Given the description of an element on the screen output the (x, y) to click on. 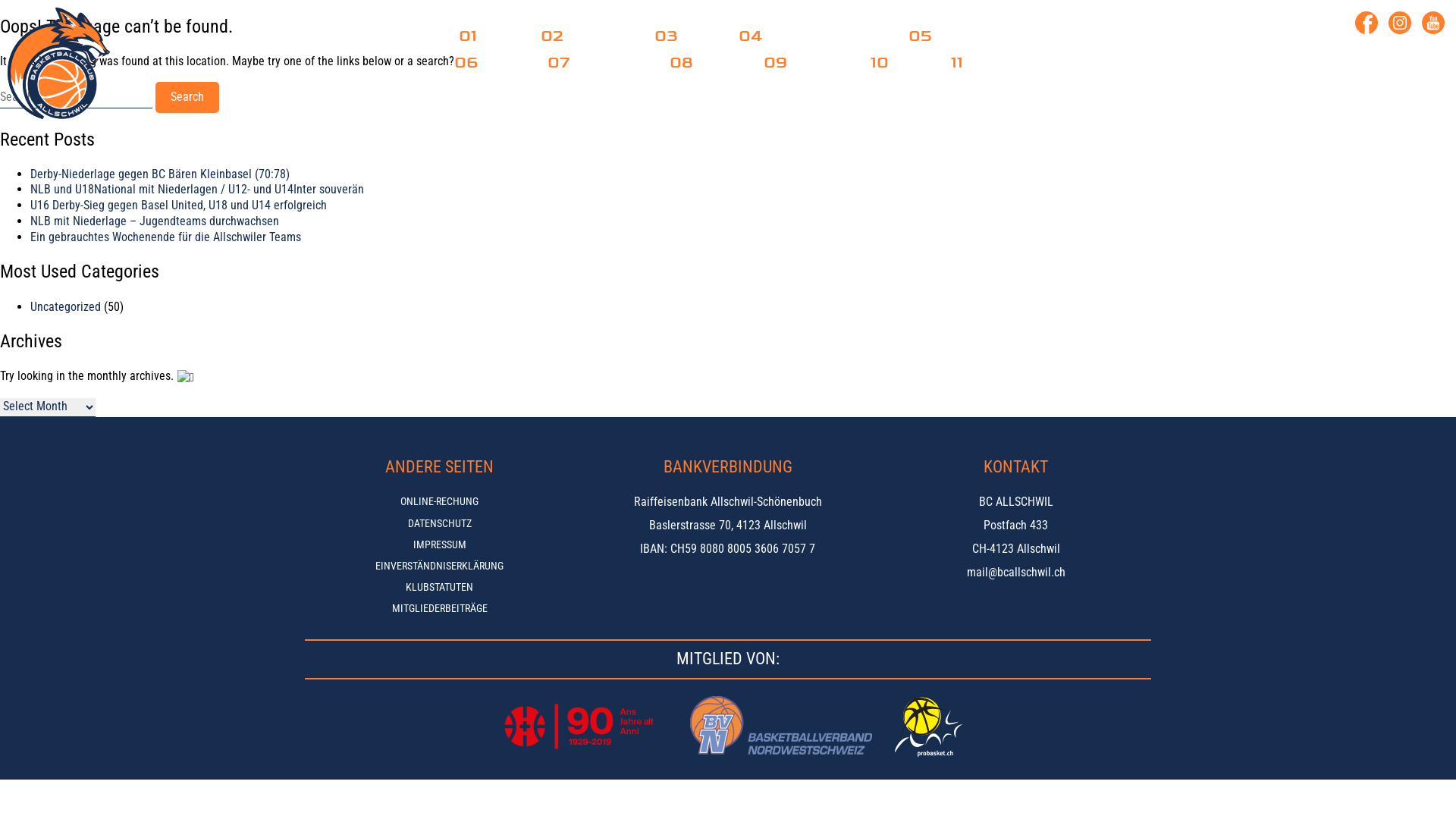
02 INSTAFEED Element type: text (584, 35)
KLUBSTATUTEN Element type: text (439, 586)
DATENSCHUTZ Element type: text (439, 523)
03 KLUB Element type: text (683, 35)
ONLINE-RECHUNG Element type: text (439, 501)
mail@bcallschwil.ch Element type: text (1016, 572)
Search Element type: text (187, 96)
08 WERDE Element type: text (703, 62)
10 SHOP Element type: text (897, 62)
09 KONTAKT Element type: text (803, 62)
IMPRESSUM Element type: text (439, 544)
07 SPONSOREN Element type: text (595, 62)
U16 Derby-Sieg gegen Basel United, U18 und U14 erfolgreich Element type: text (178, 204)
11 CAMP Element type: text (975, 62)
06 TEAMS Element type: text (487, 62)
01 NEWS Element type: text (486, 35)
Uncategorized Element type: text (65, 306)
05 VORSTAND Element type: text (952, 35)
